Given the description of an element on the screen output the (x, y) to click on. 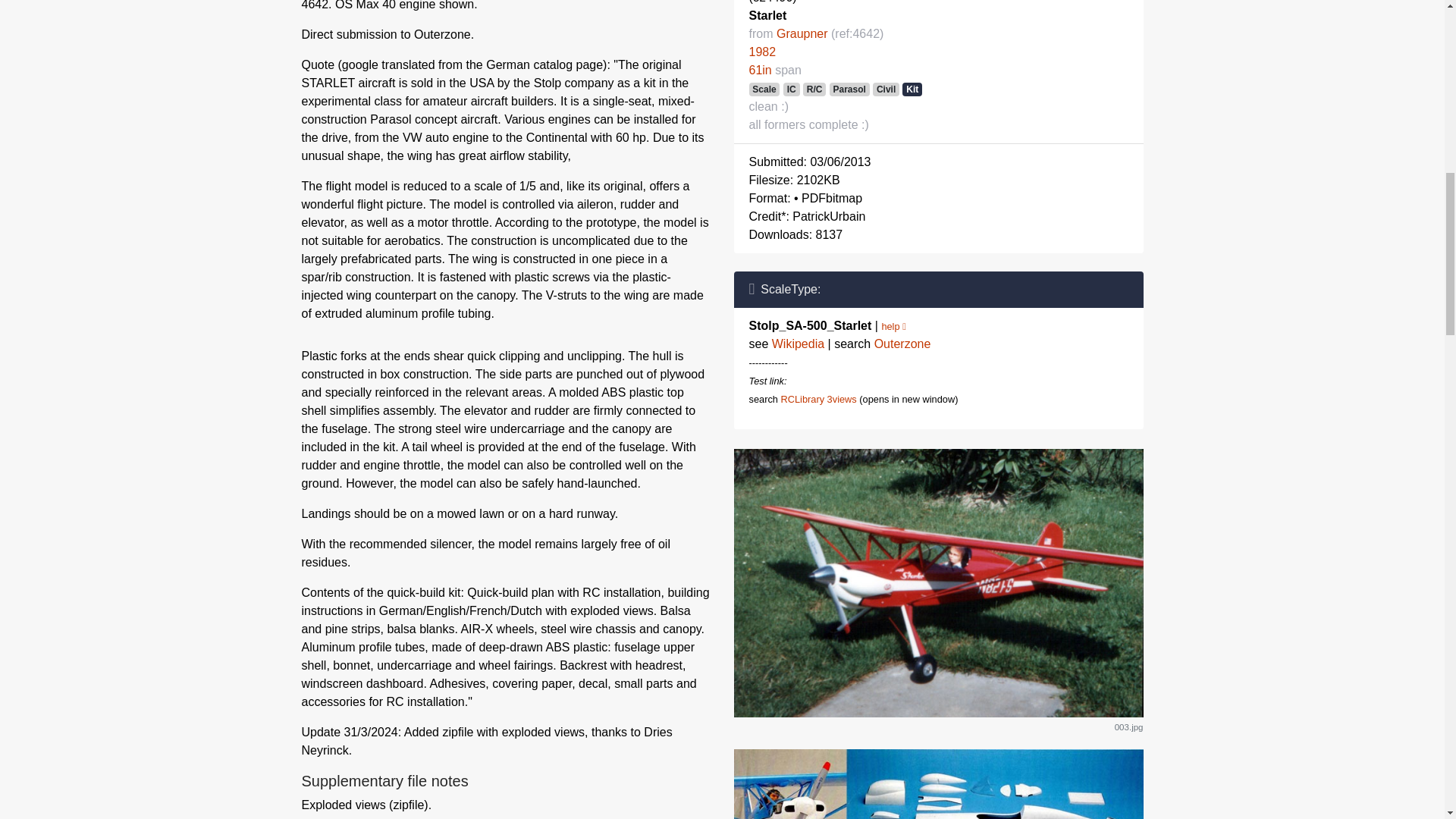
help (892, 326)
Graupner (802, 33)
1982 (762, 51)
Wikipedia (797, 343)
Outerzone (903, 343)
61in (760, 69)
RCLibrary 3views (818, 398)
